Given the description of an element on the screen output the (x, y) to click on. 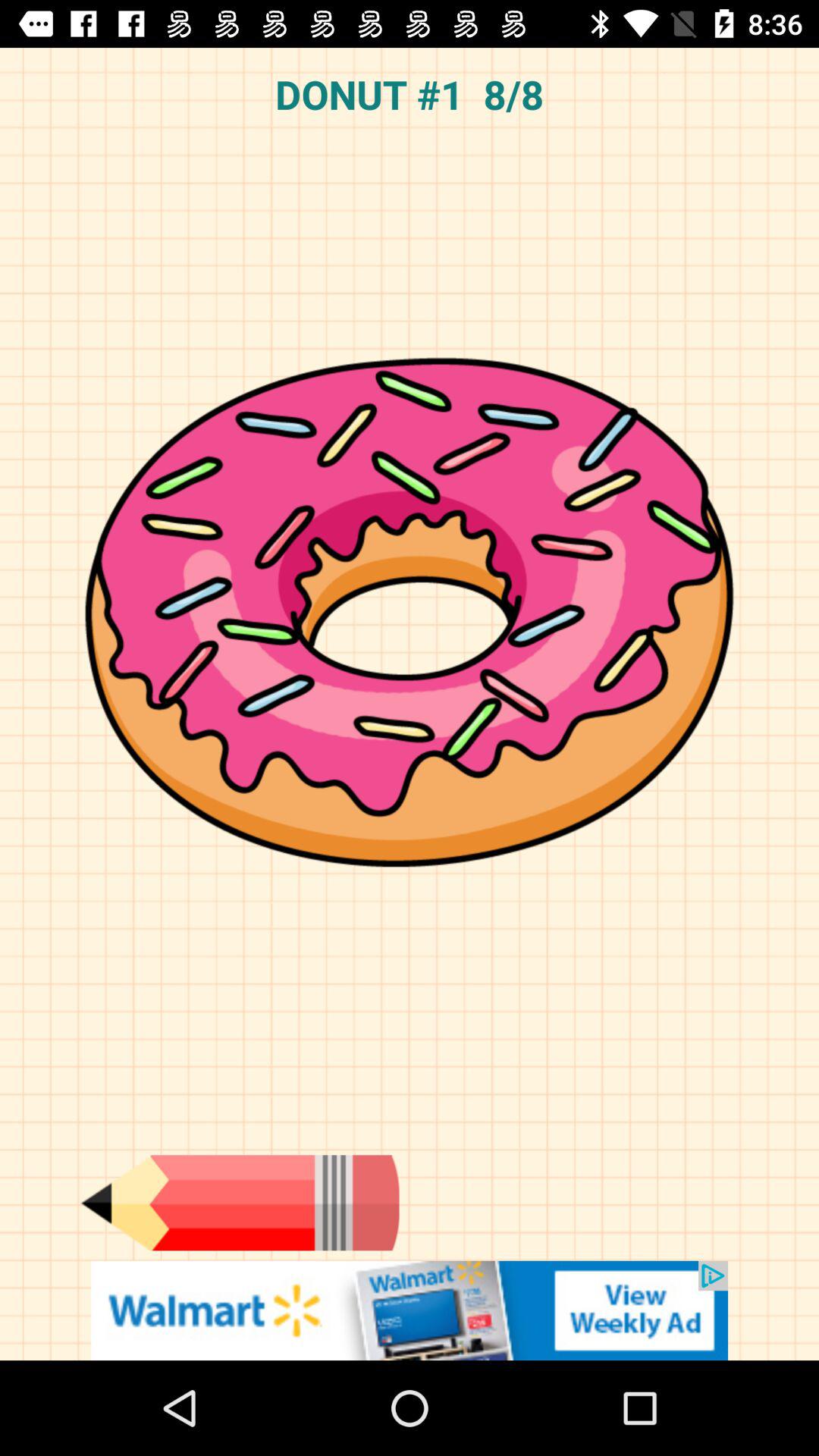
share the article (409, 1310)
